Given the description of an element on the screen output the (x, y) to click on. 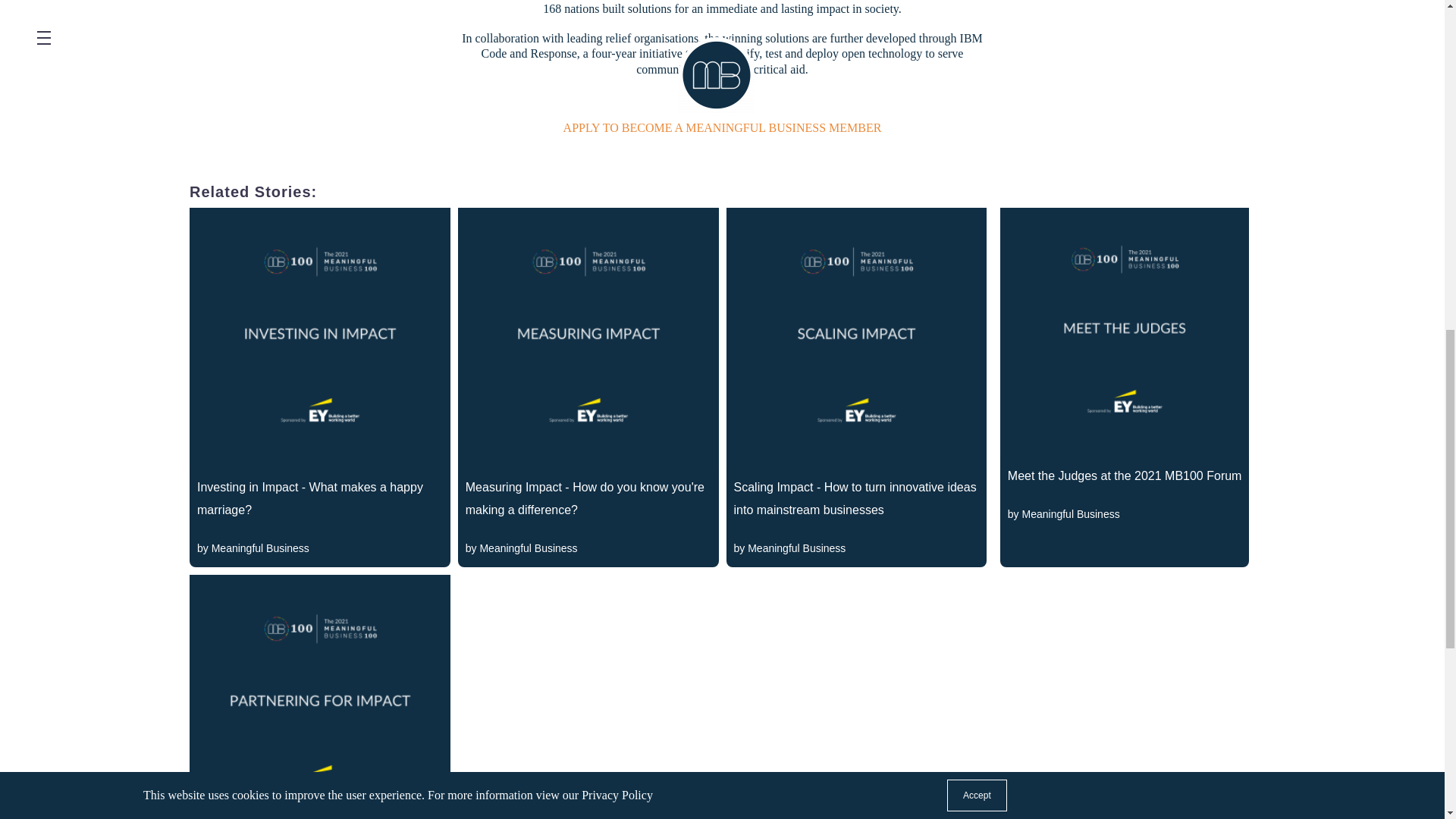
Meaningful Business (259, 548)
APPLY TO BECOME A MEANINGFUL BUSINESS MEMBER (722, 127)
Meaningful Business (527, 548)
